Given the description of an element on the screen output the (x, y) to click on. 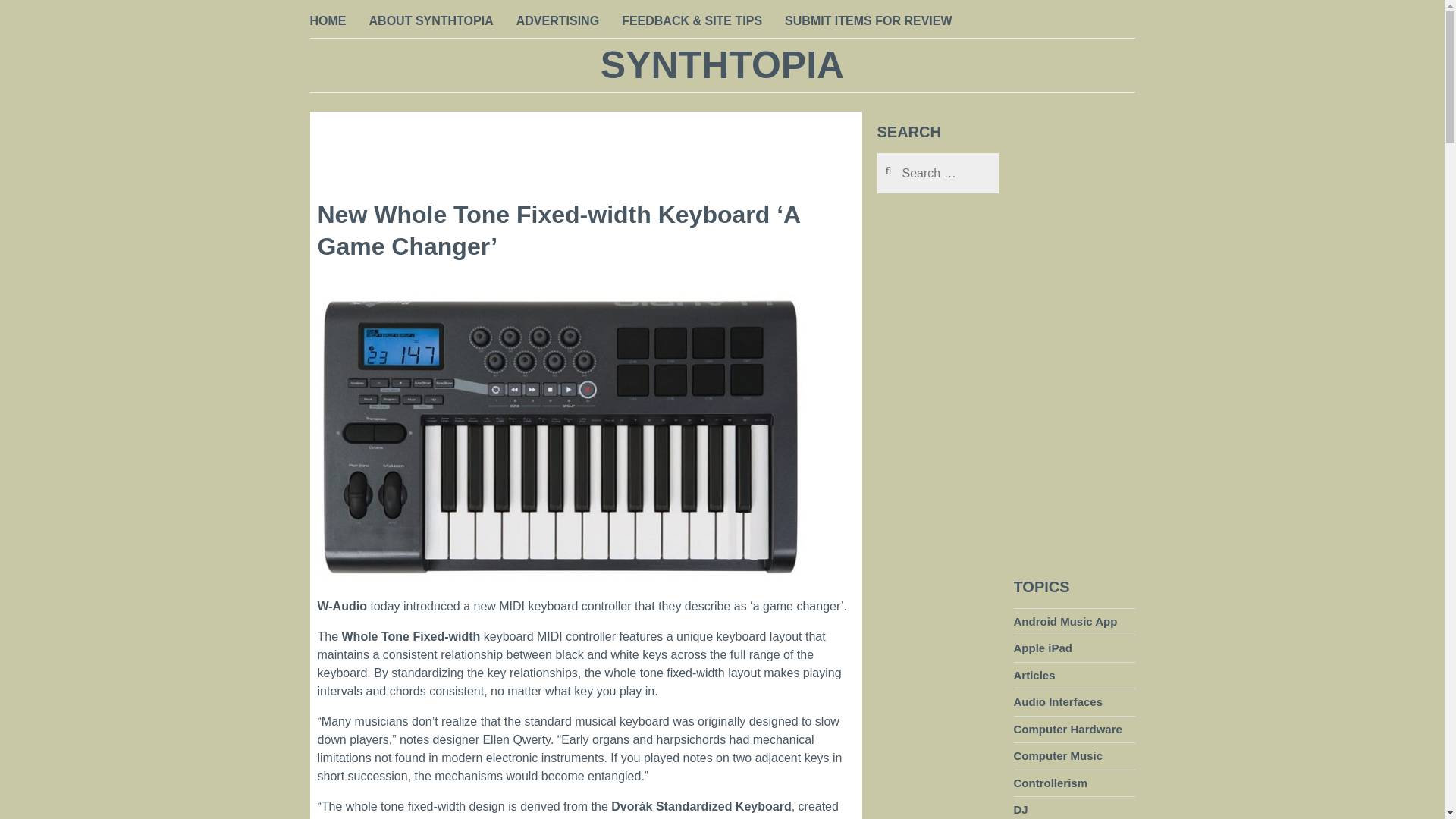
HOME (327, 21)
ABOUT SYNTHTOPIA (431, 21)
SYNTHTOPIA (721, 65)
3rd party ad content (584, 146)
SUBMIT ITEMS FOR REVIEW (868, 21)
ADVERTISING (557, 21)
3rd party ad content (936, 743)
